Given the description of an element on the screen output the (x, y) to click on. 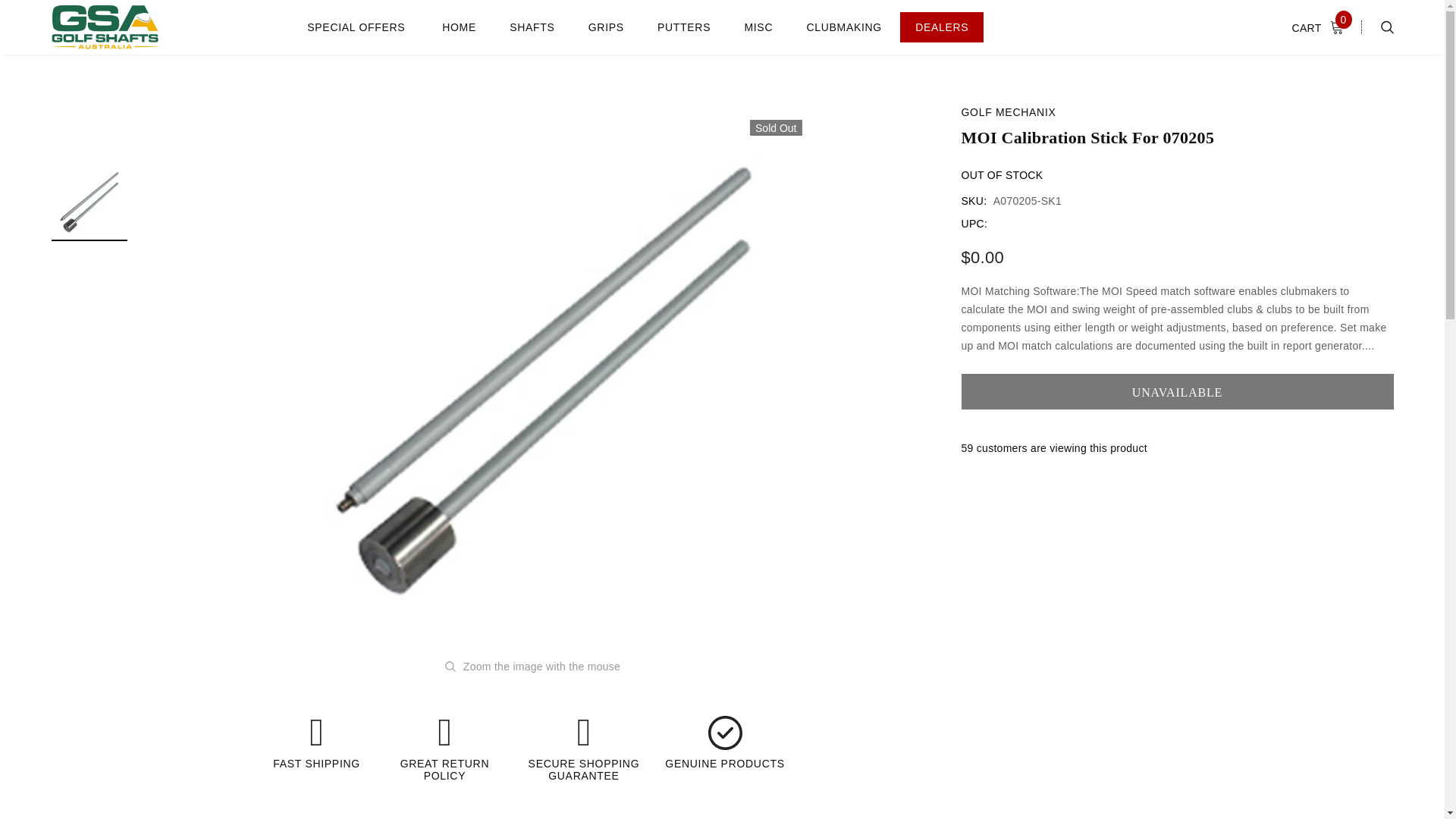
Logo (104, 27)
Golf Mechanix (1008, 111)
SPECIAL OFFERS (356, 27)
Cart (1322, 27)
HOME (459, 27)
Unavailable (1176, 391)
SHAFTS (531, 27)
